Given the description of an element on the screen output the (x, y) to click on. 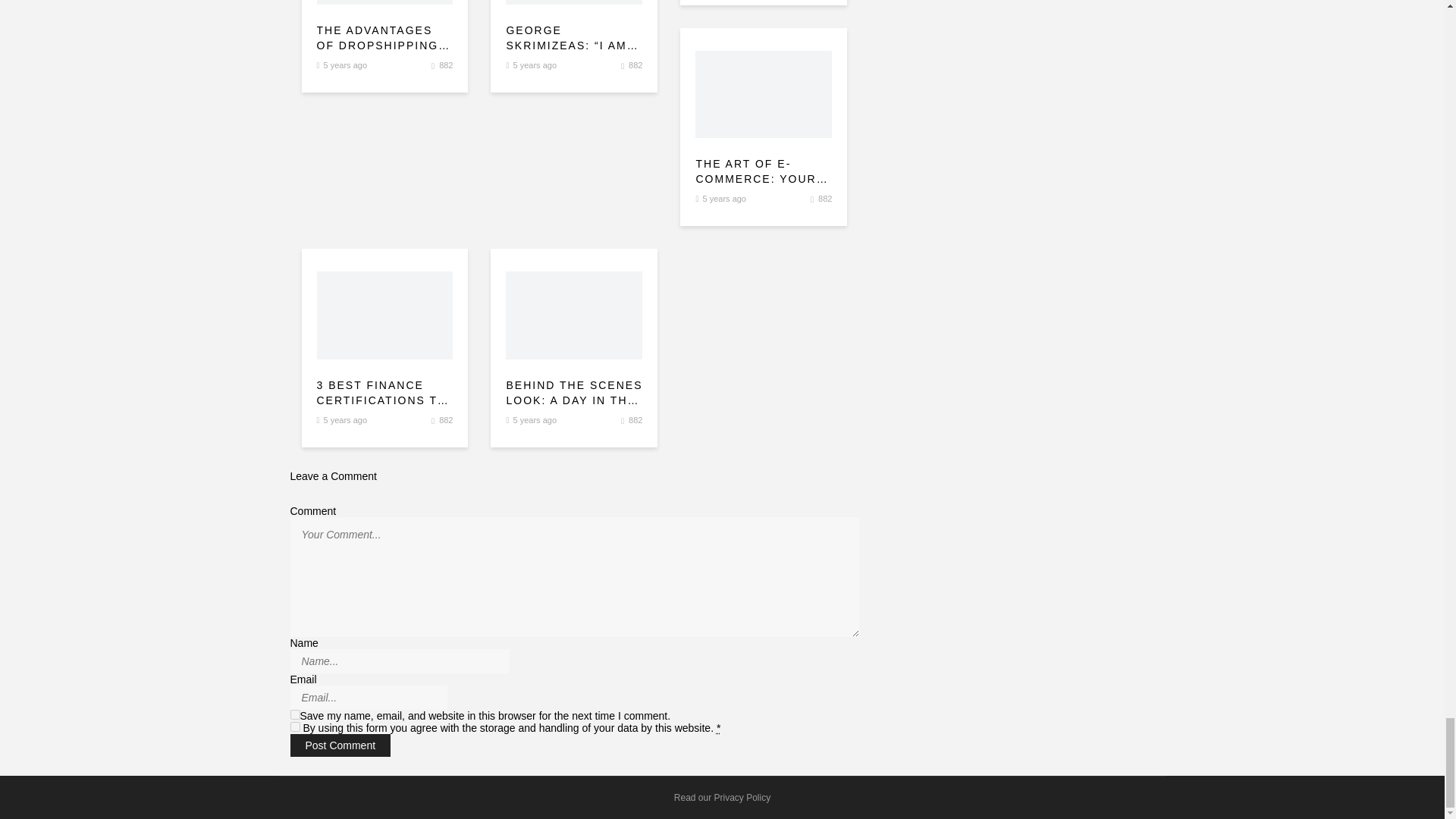
The Advantages of Dropshipping: A Modern Business Model (384, 38)
882 (445, 64)
1 (294, 726)
yes (294, 714)
Post Comment (339, 744)
882 (635, 64)
THE ADVANTAGES OF DROPSHIPPING: A MODERN BUSINESS MODEL (384, 38)
